Given the description of an element on the screen output the (x, y) to click on. 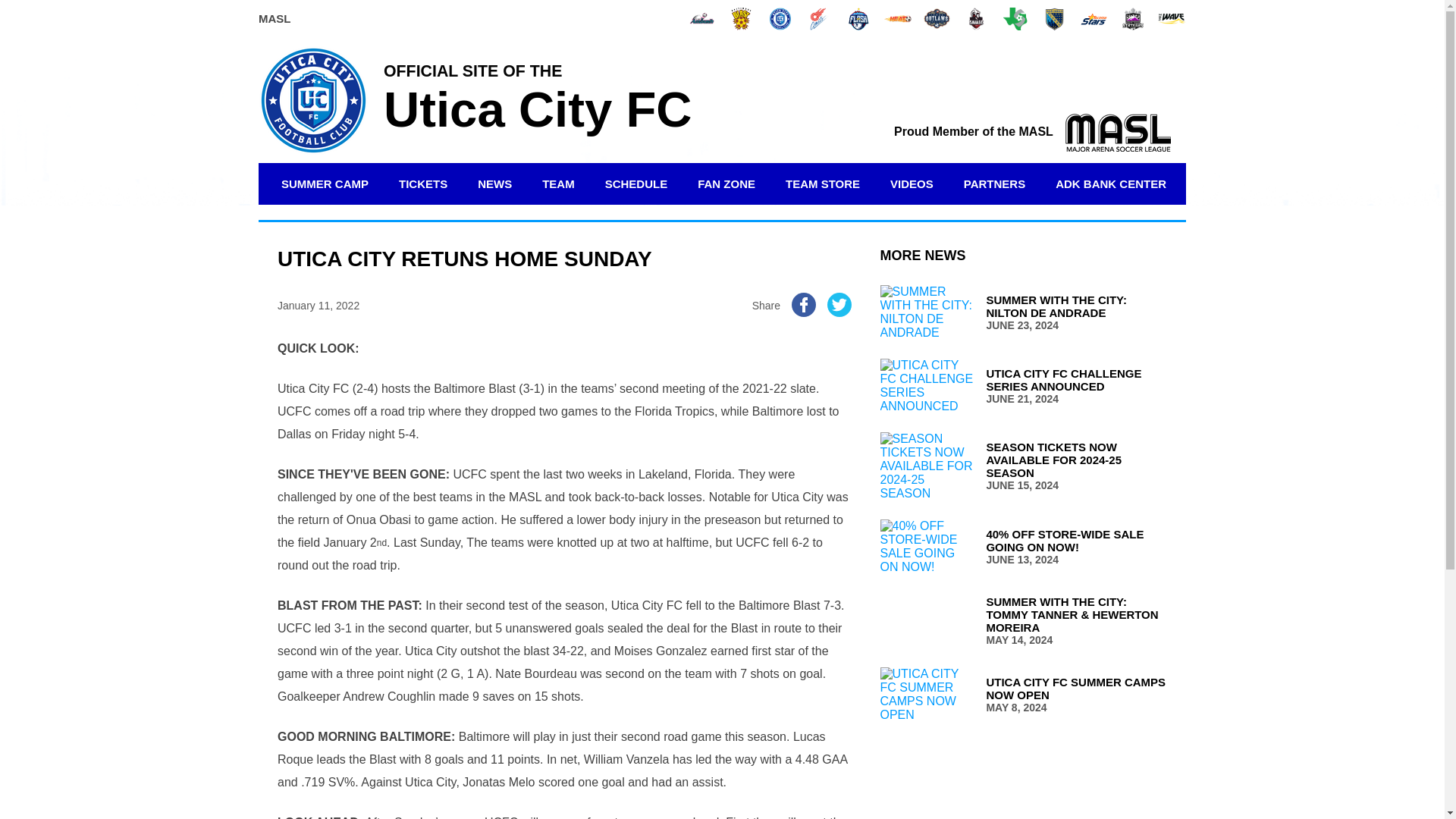
Proud Member of the MASL (1031, 131)
SUMMER CAMP (324, 183)
MASL (275, 18)
NEWS (493, 183)
TEAM STORE (822, 183)
